Given the description of an element on the screen output the (x, y) to click on. 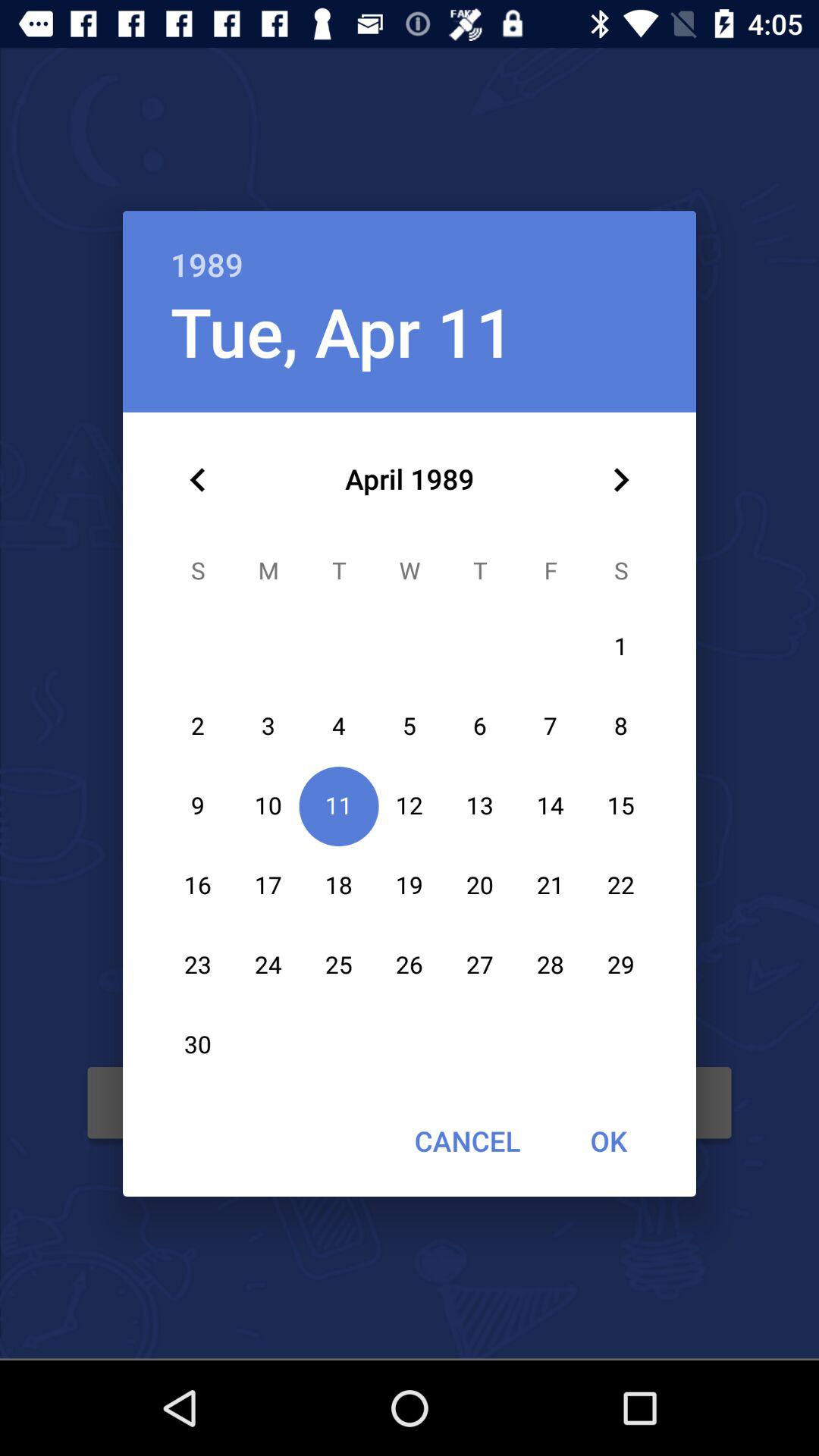
select icon below 1989 (342, 331)
